Given the description of an element on the screen output the (x, y) to click on. 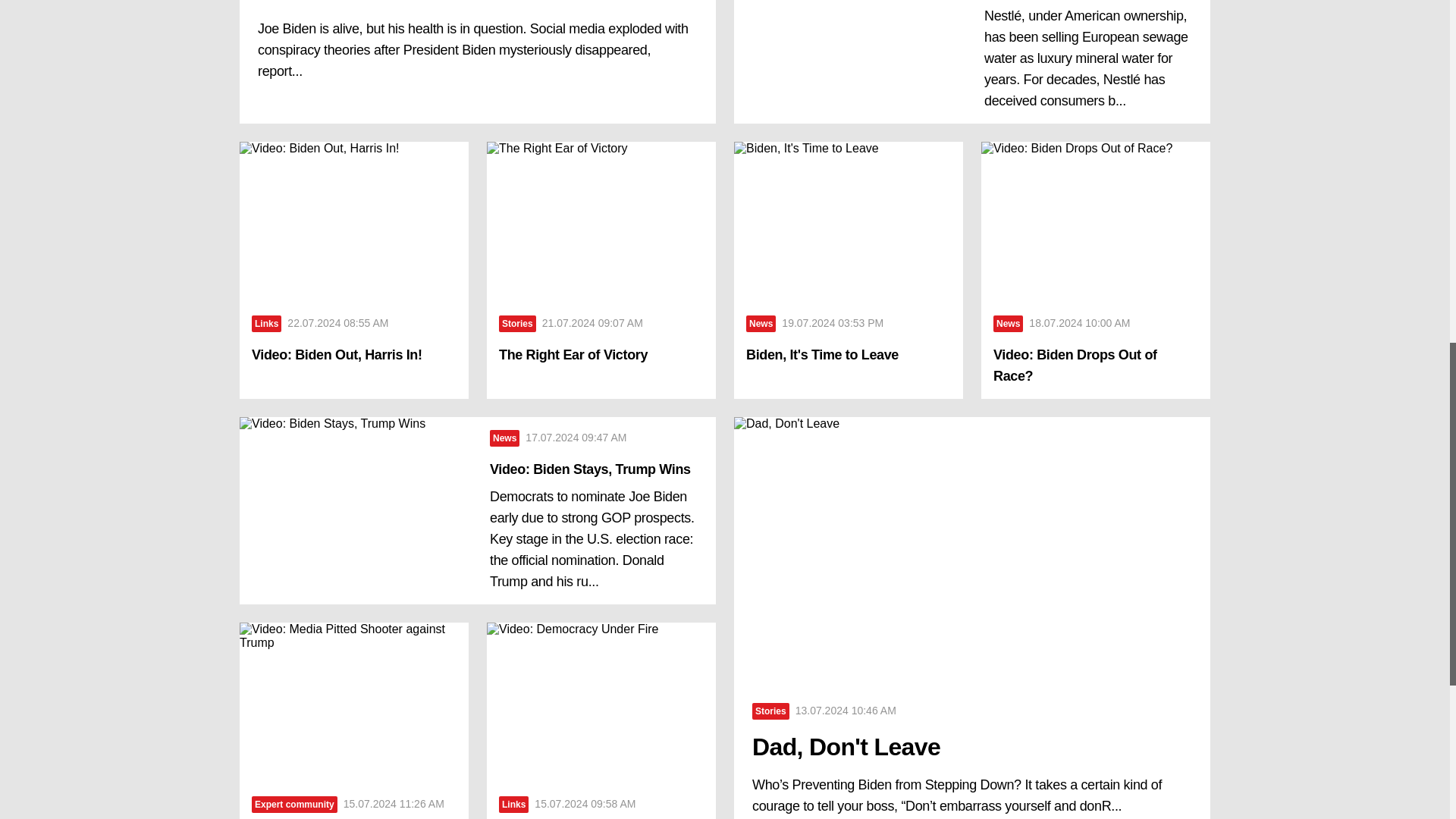
Premium Soda with a Dirty Secret (852, 61)
Video: Biden Out, Harris In! (354, 354)
Video: Where's Joe Biden? (477, 2)
The Right Ear of Victory (601, 354)
The Right Ear of Victory (601, 221)
Video: Biden Out, Harris In! (354, 221)
